Given the description of an element on the screen output the (x, y) to click on. 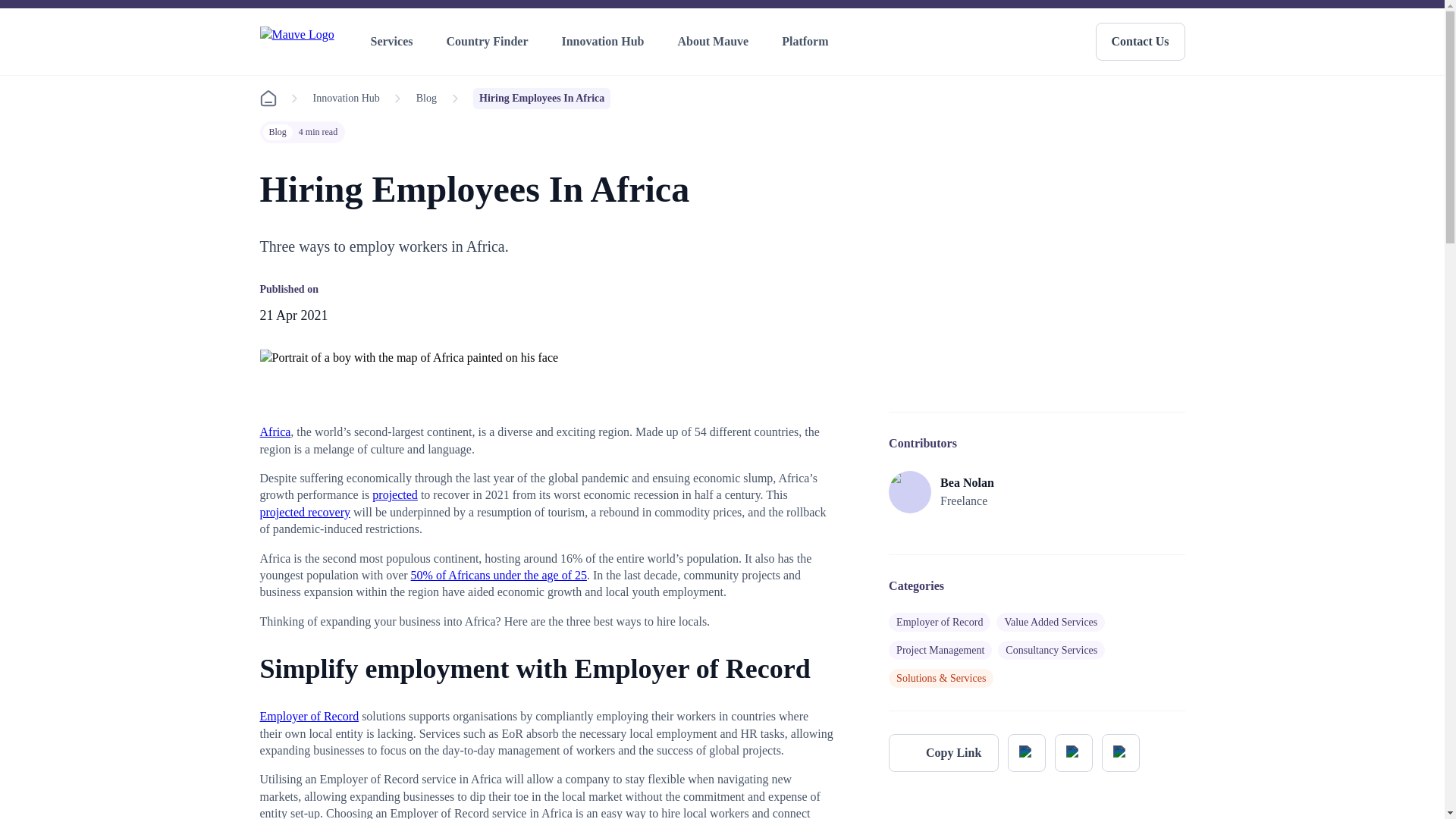
Platform (807, 41)
Country Finder (489, 41)
About Mauve (716, 41)
Services (394, 41)
Wednesday 21 April 2021 at 12:22:17 BST (293, 314)
Innovation Hub (605, 41)
